Given the description of an element on the screen output the (x, y) to click on. 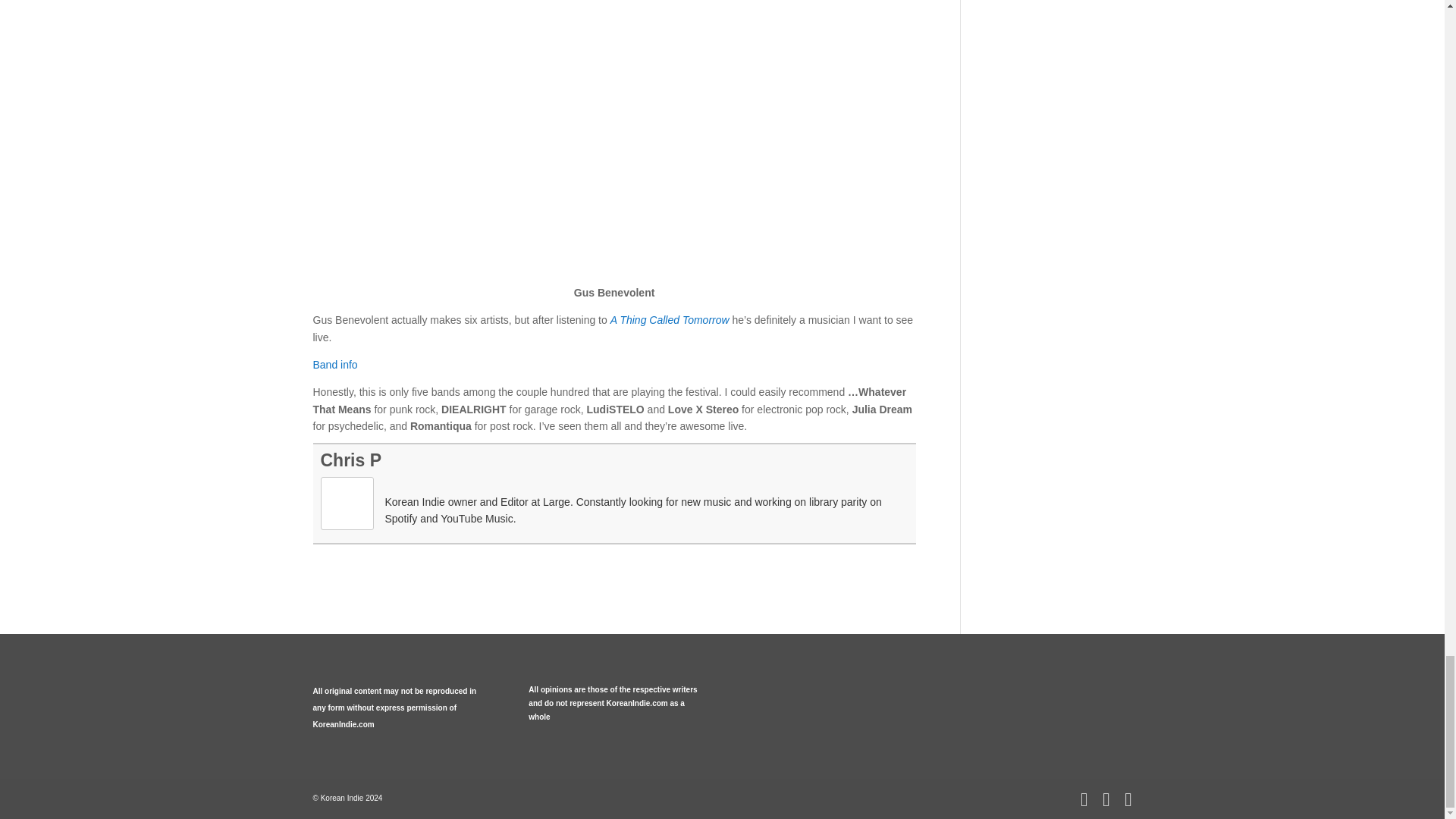
Chris P (350, 460)
A Thing Called Tomorrow (669, 319)
All posts by Chris P (350, 460)
Band info (334, 364)
